Given the description of an element on the screen output the (x, y) to click on. 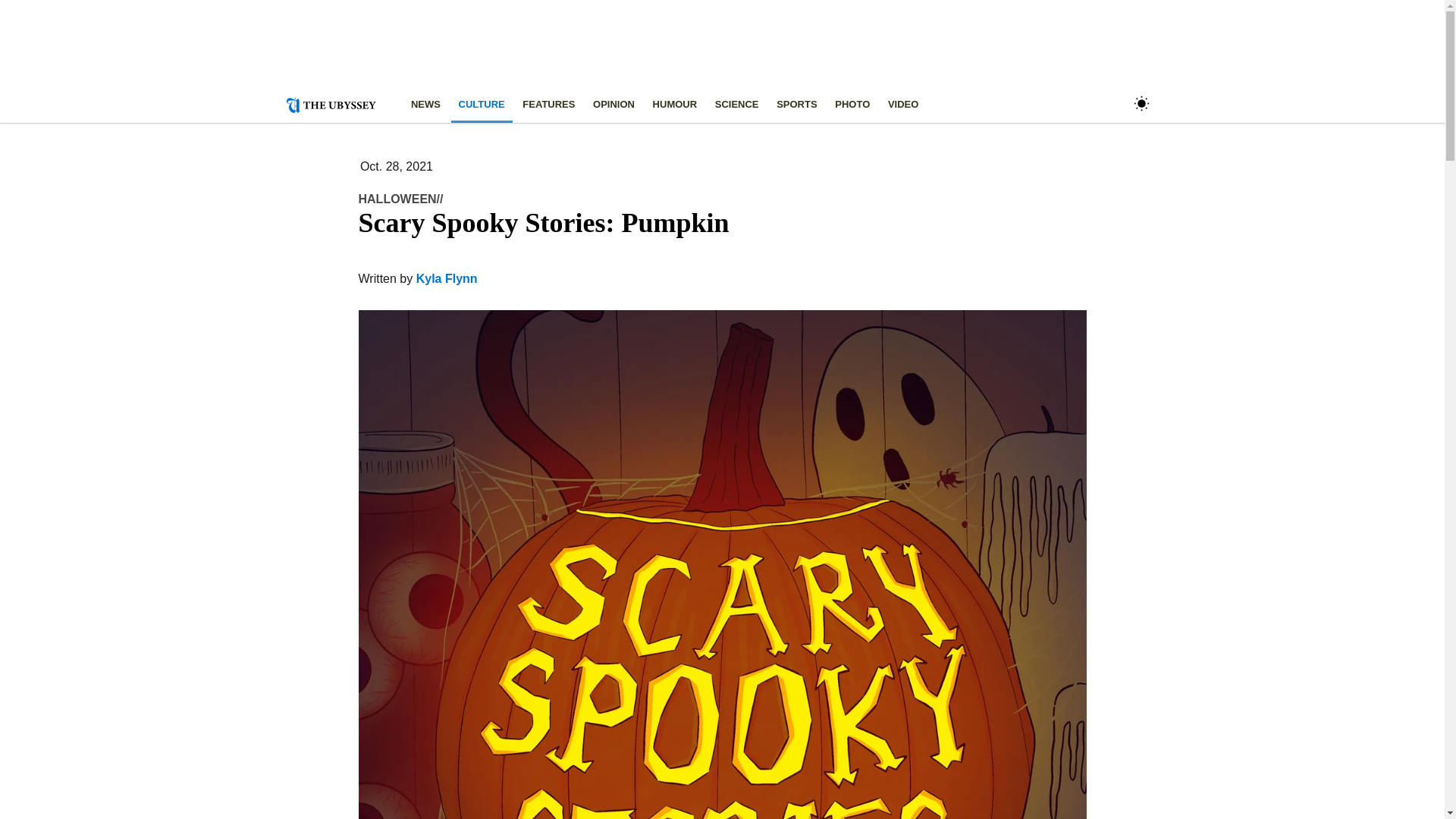
Kyla Flynn (446, 278)
3rd party ad content (710, 52)
HUMOUR (674, 104)
FEATURES (548, 104)
PHOTO (851, 104)
CULTURE (481, 104)
SCIENCE (736, 104)
OPINION (613, 104)
The Ubyssey homepage (337, 103)
SPORTS (796, 104)
